Given the description of an element on the screen output the (x, y) to click on. 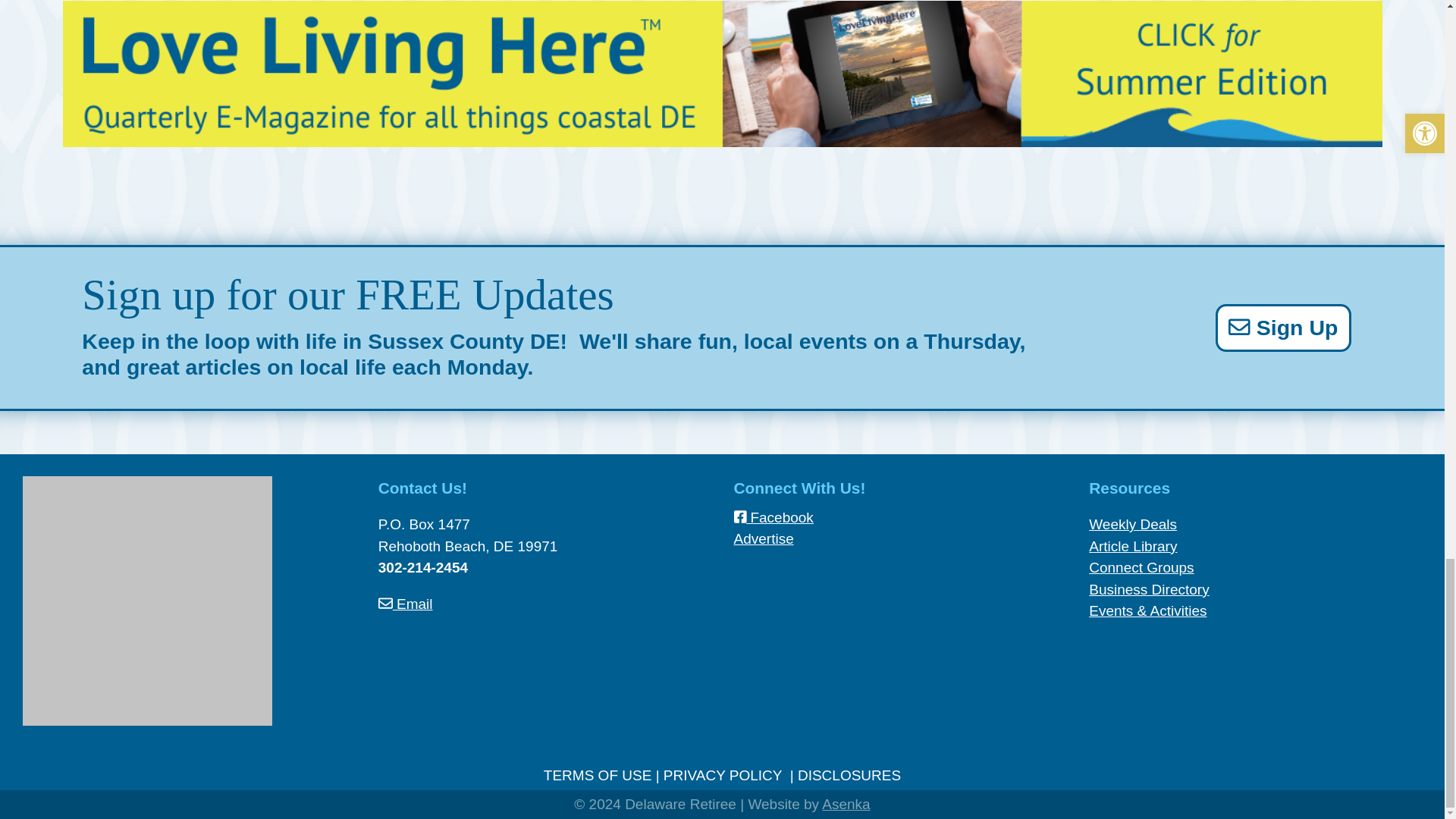
Email (405, 603)
Sign Up (1283, 327)
